Given the description of an element on the screen output the (x, y) to click on. 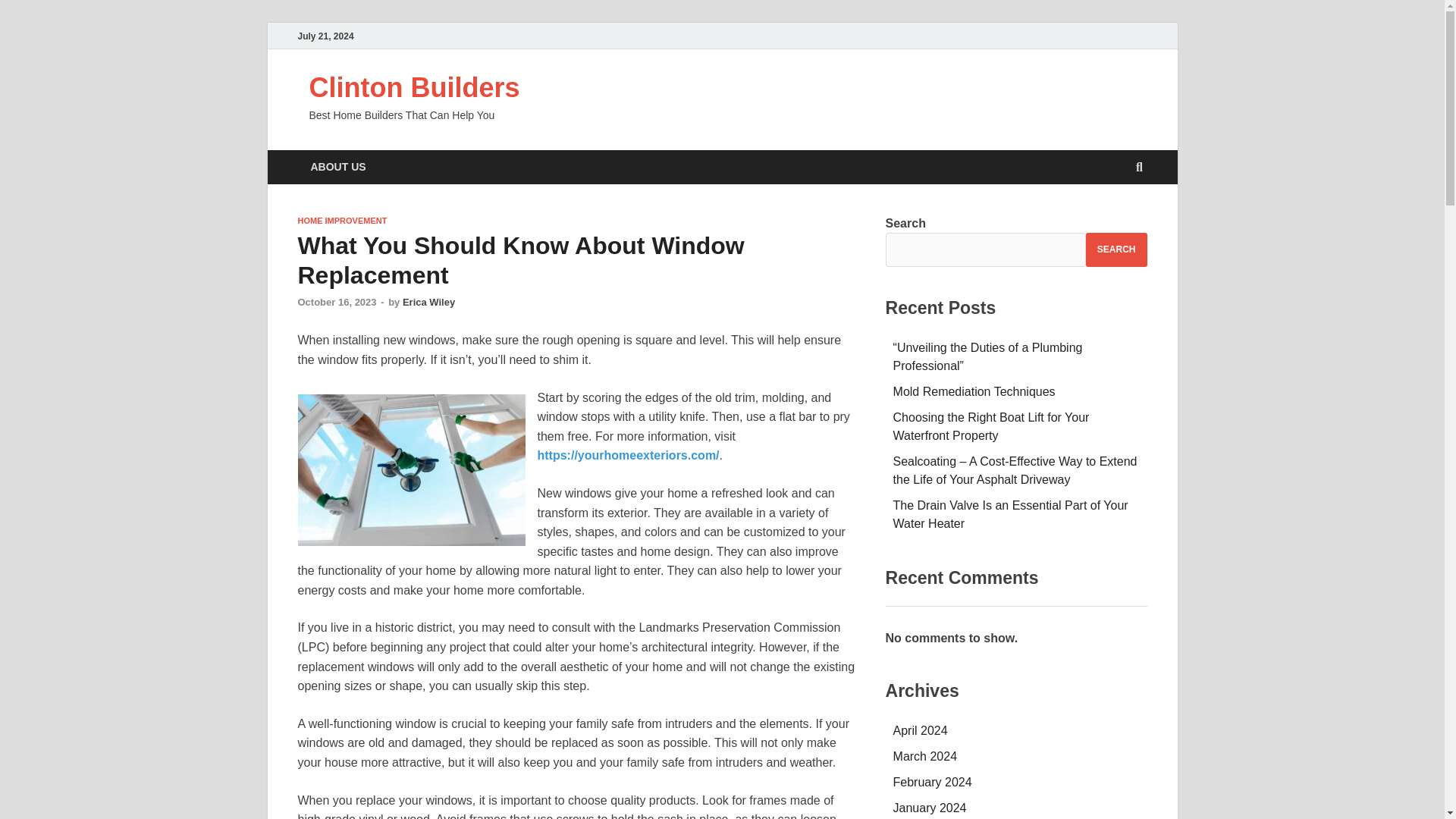
April 2024 (920, 730)
HOME IMPROVEMENT (342, 220)
ABOUT US (337, 166)
Mold Remediation Techniques (974, 391)
Clinton Builders (413, 87)
Erica Wiley (428, 301)
The Drain Valve Is an Essential Part of Your Water Heater (1010, 513)
Choosing the Right Boat Lift for Your Waterfront Property (991, 426)
January 2024 (929, 807)
October 16, 2023 (336, 301)
February 2024 (932, 781)
March 2024 (925, 756)
SEARCH (1116, 249)
